Given the description of an element on the screen output the (x, y) to click on. 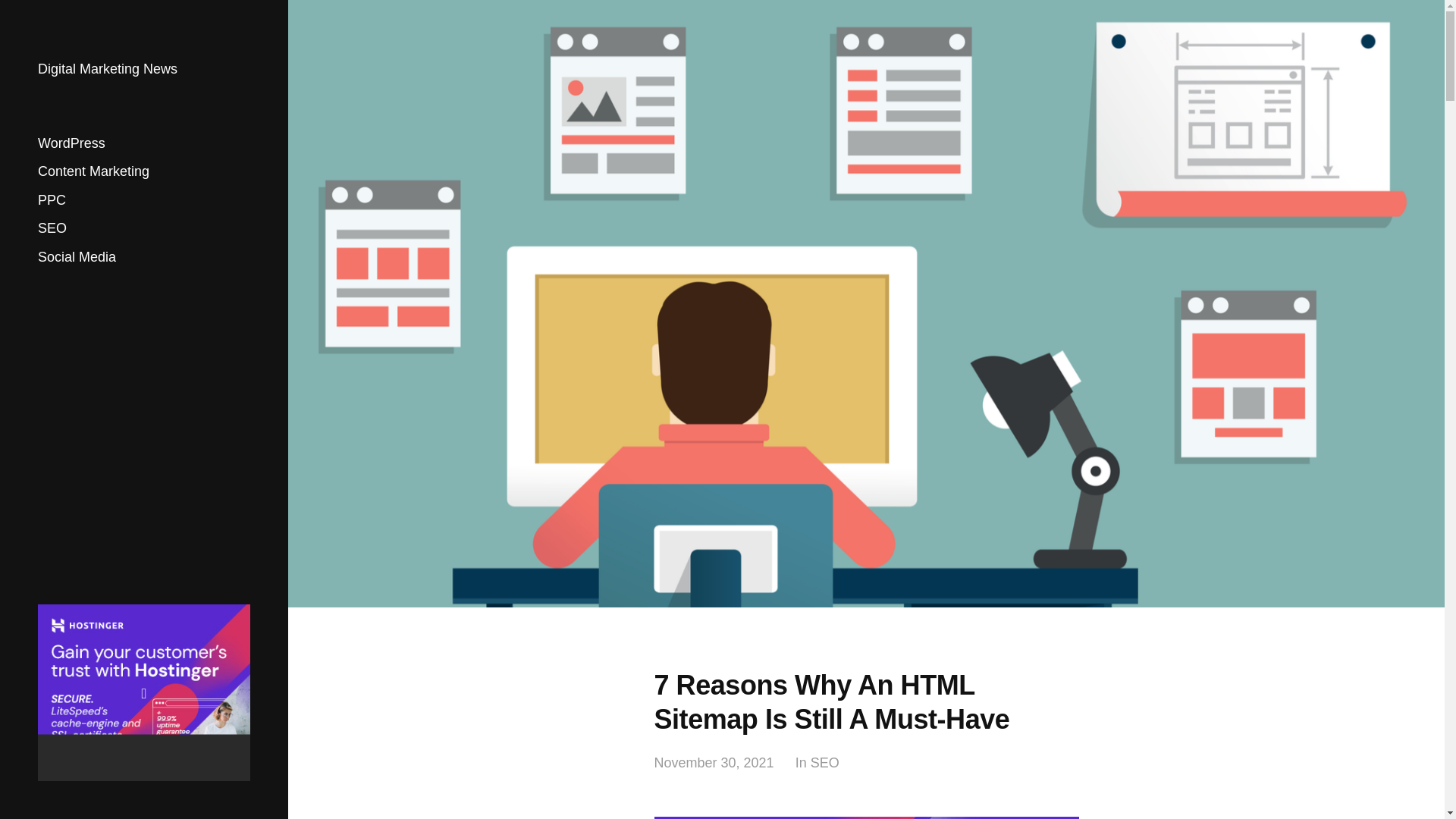
WordPress (70, 142)
SEO (825, 763)
Content Marketing (93, 171)
Social Media (76, 256)
Digital Marketing News (107, 68)
November 30, 2021 (713, 763)
PPC (51, 200)
SEO (51, 228)
